Given the description of an element on the screen output the (x, y) to click on. 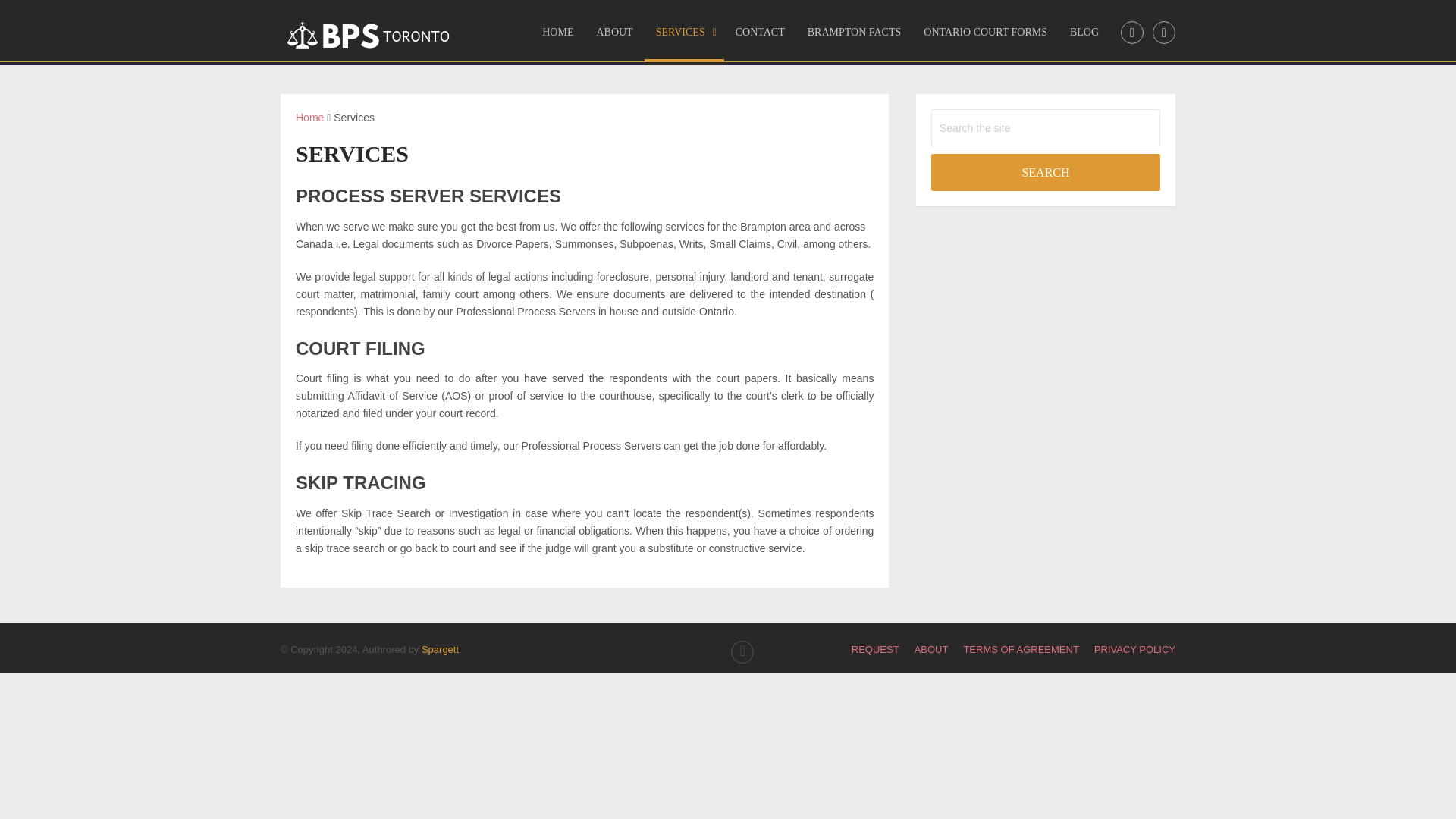
Search (1045, 171)
TERMS OF AGREEMENT (1020, 649)
Search (1045, 171)
Spargett (440, 649)
BLOG (1083, 37)
ONTARIO COURT FORMS (985, 37)
Home (309, 117)
SERVICES (684, 37)
PRIVACY POLICY (1134, 649)
HOME (558, 37)
ABOUT (614, 37)
REQUEST (875, 649)
CONTACT (759, 37)
ABOUT (931, 649)
BRAMPTON FACTS (854, 37)
